Given the description of an element on the screen output the (x, y) to click on. 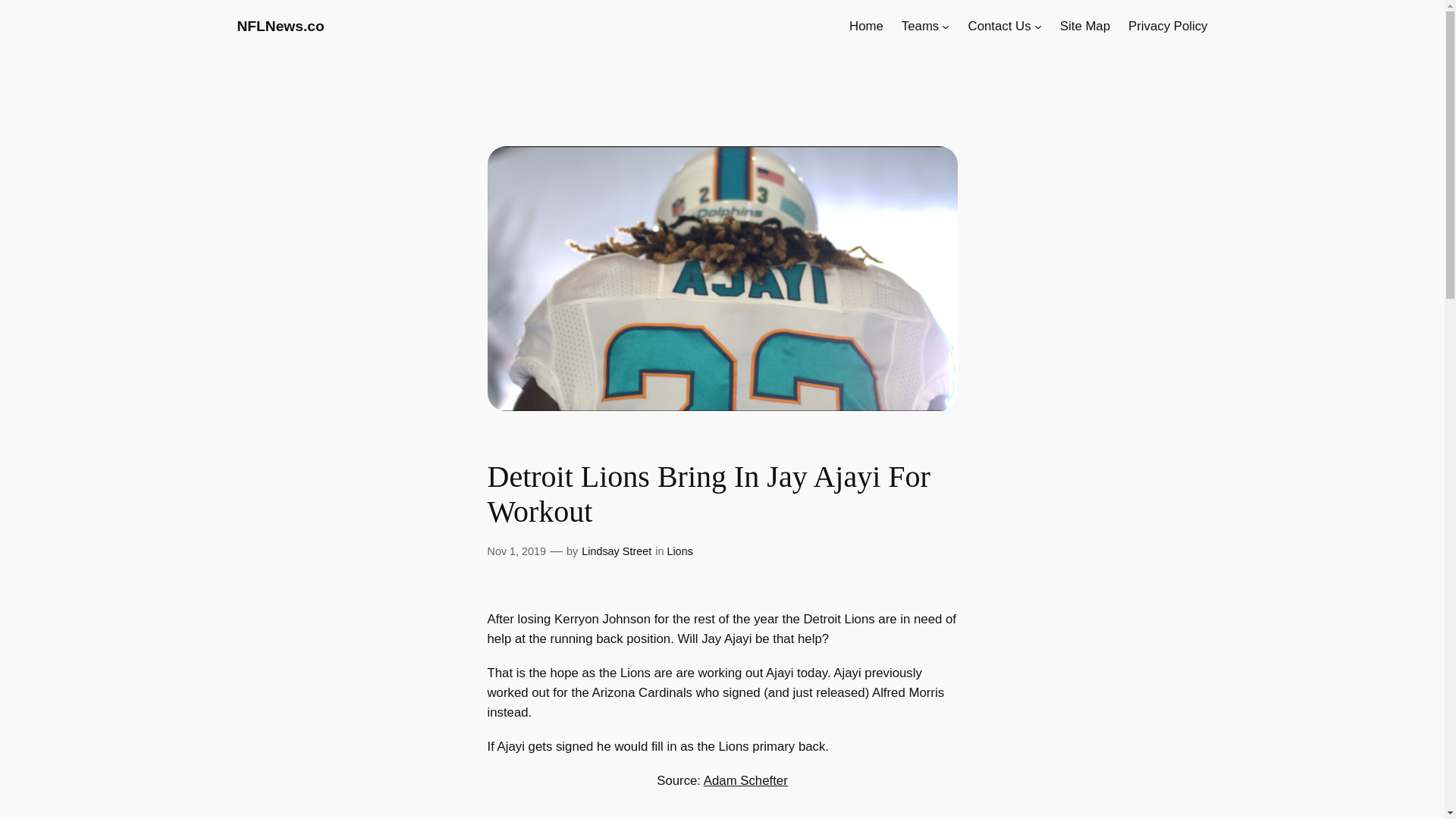
Teams (920, 26)
Home (865, 26)
NFLNews.co (279, 26)
